Given the description of an element on the screen output the (x, y) to click on. 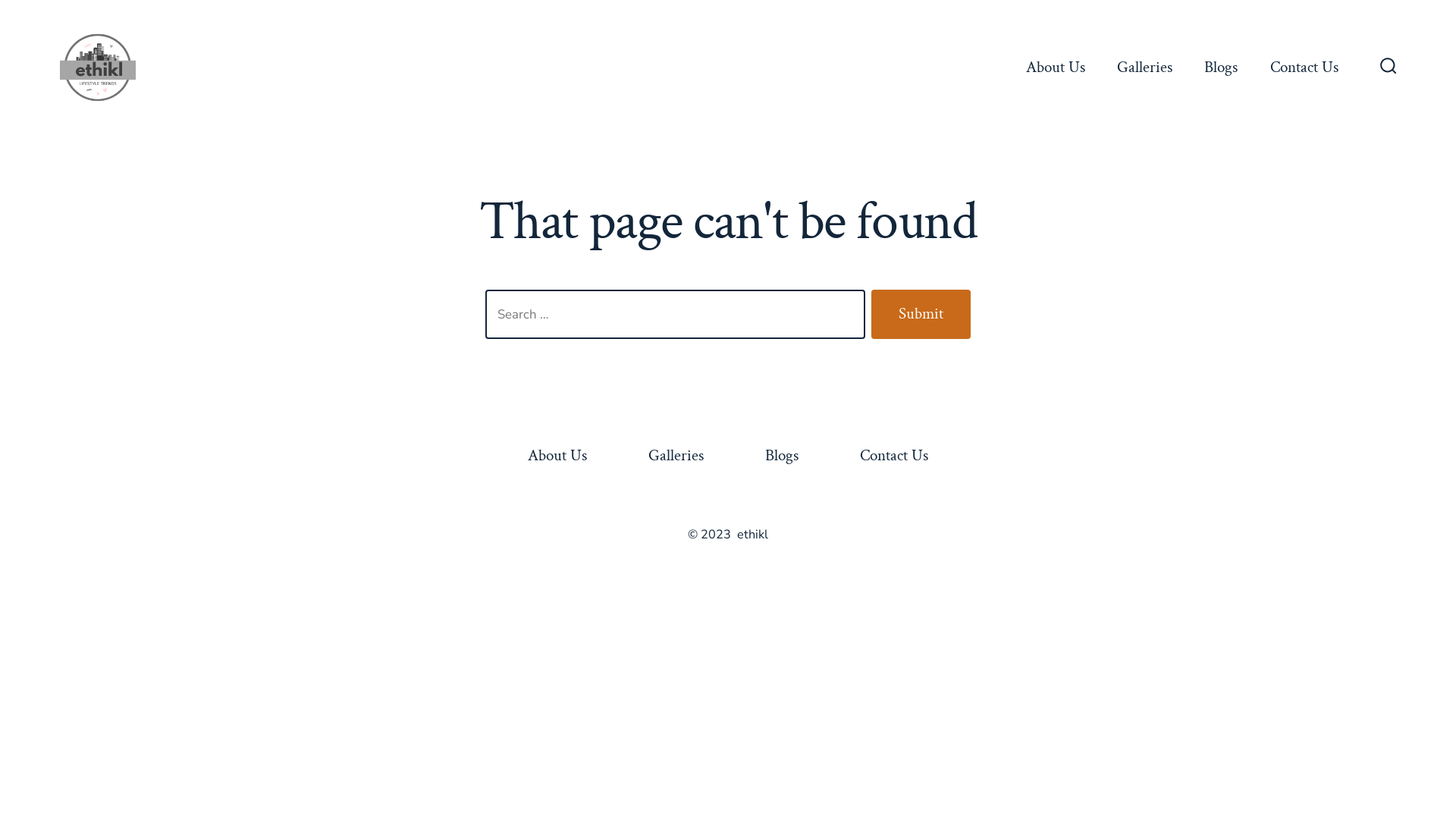
Blogs Element type: text (1220, 67)
Contact Us Element type: text (1304, 67)
Submit Element type: text (920, 314)
About Us Element type: text (557, 455)
Search Toggle Element type: text (1388, 67)
About Us Element type: text (1055, 67)
Contact Us Element type: text (893, 455)
Blogs Element type: text (781, 455)
Galleries Element type: text (676, 455)
Galleries Element type: text (1144, 67)
